Given the description of an element on the screen output the (x, y) to click on. 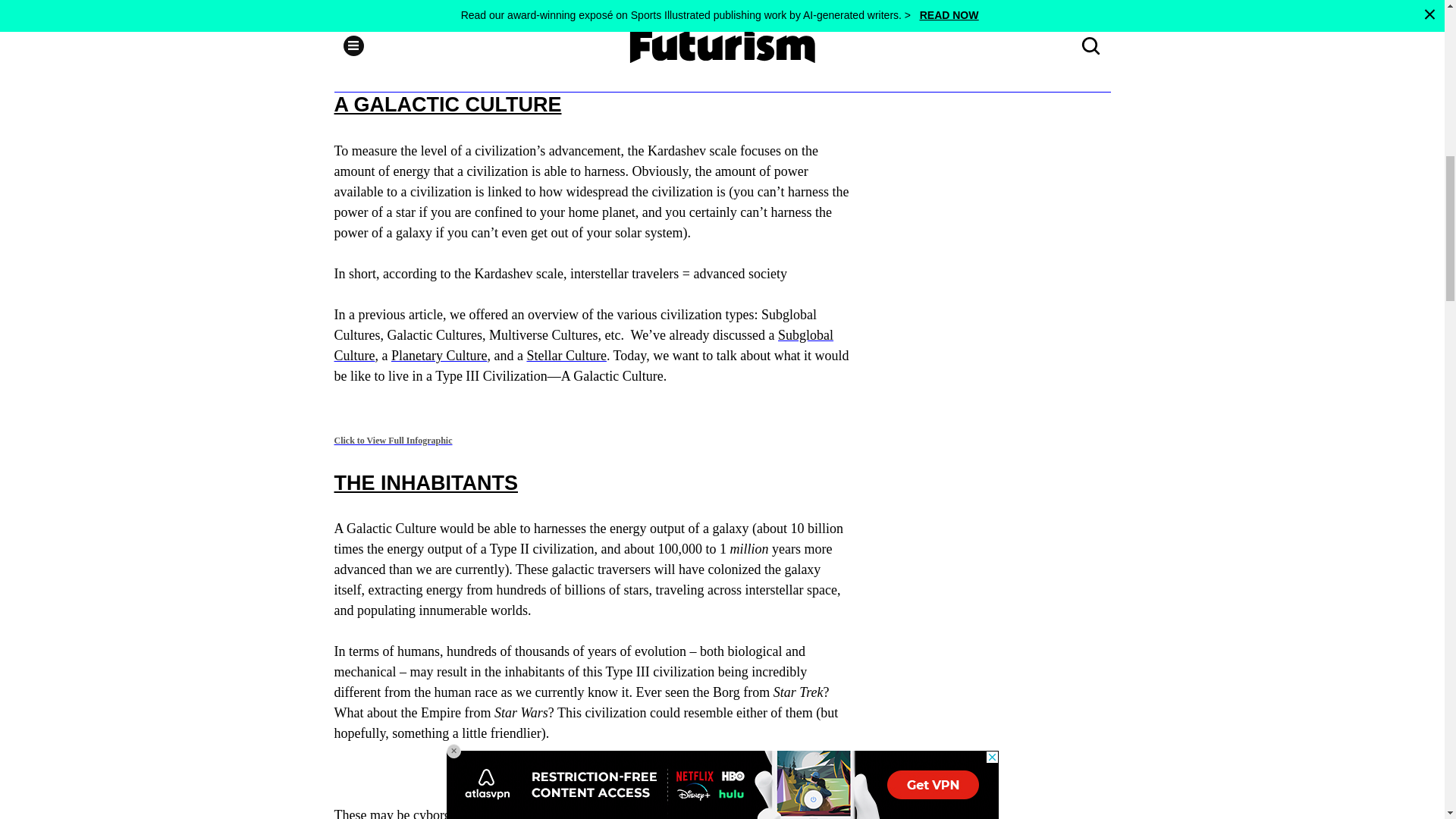
3rd party ad content (995, 440)
WallZ (721, 14)
Planetary Culture (438, 355)
3rd party ad content (995, 187)
Subglobal Culture (582, 345)
Click to View Full Infographic (392, 439)
Stellar Culture (565, 355)
cybernetic organism (534, 813)
